Given the description of an element on the screen output the (x, y) to click on. 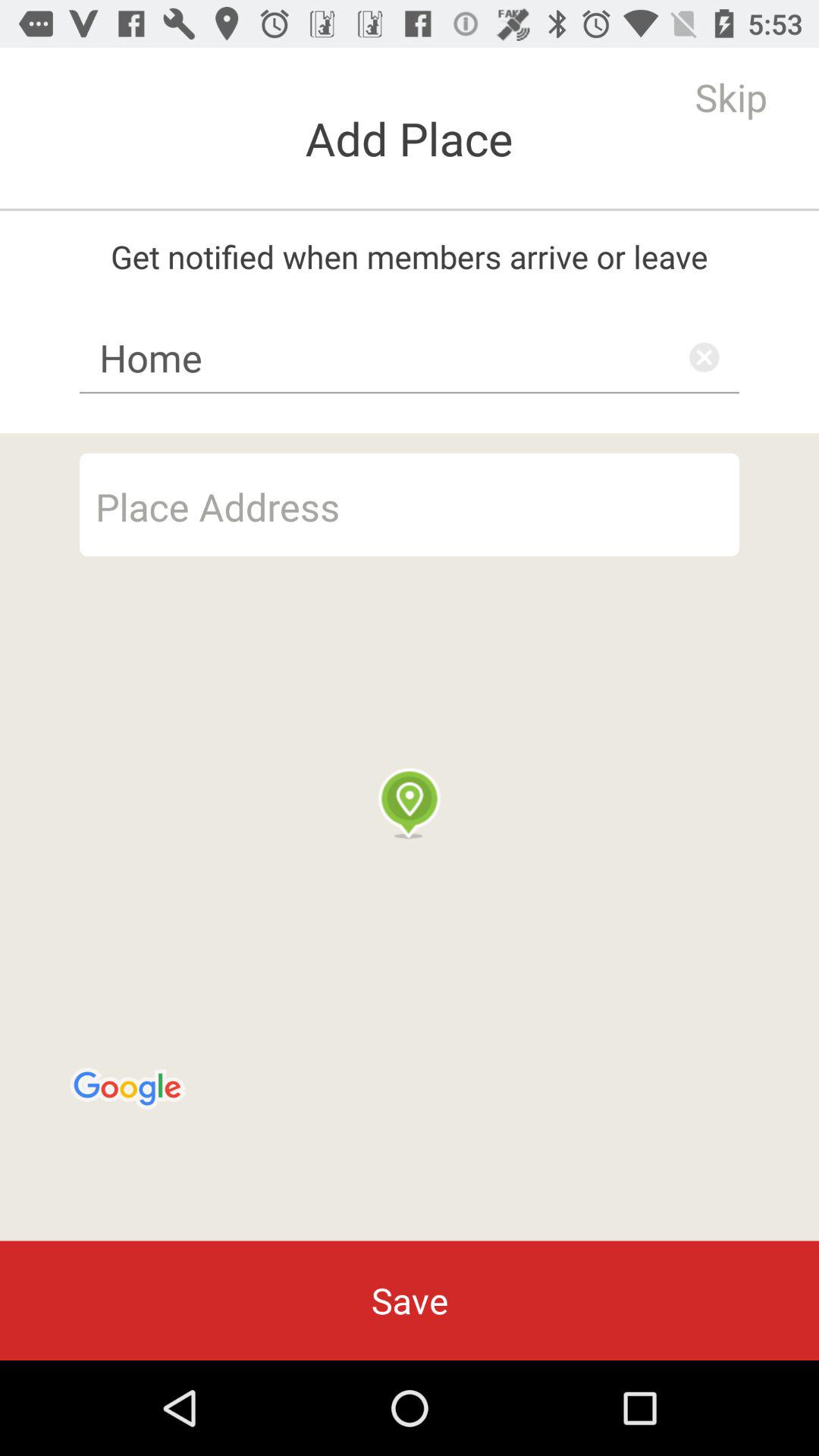
select 77 van ness (409, 504)
